Given the description of an element on the screen output the (x, y) to click on. 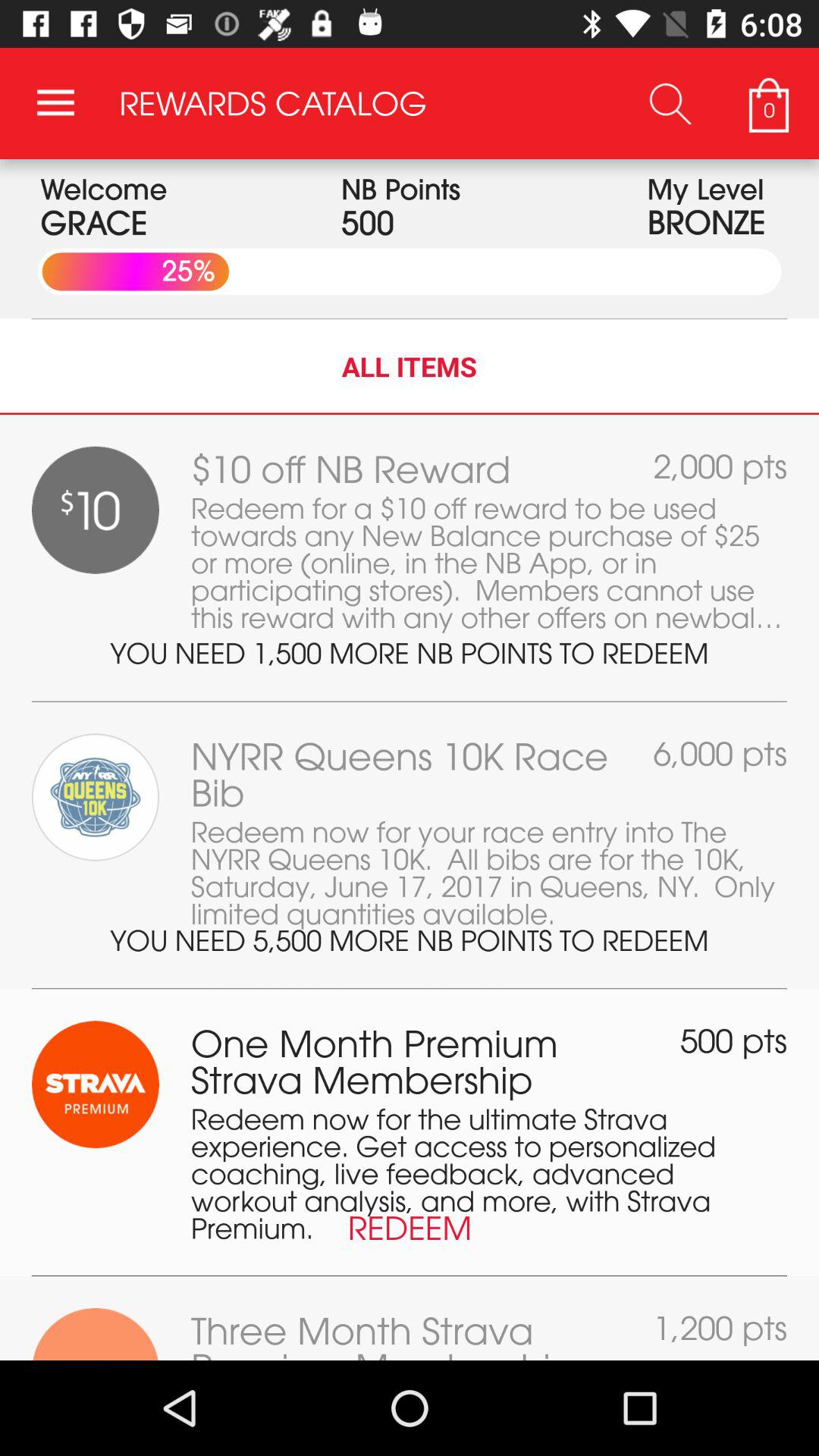
press the item next to the one month premium (733, 1040)
